Given the description of an element on the screen output the (x, y) to click on. 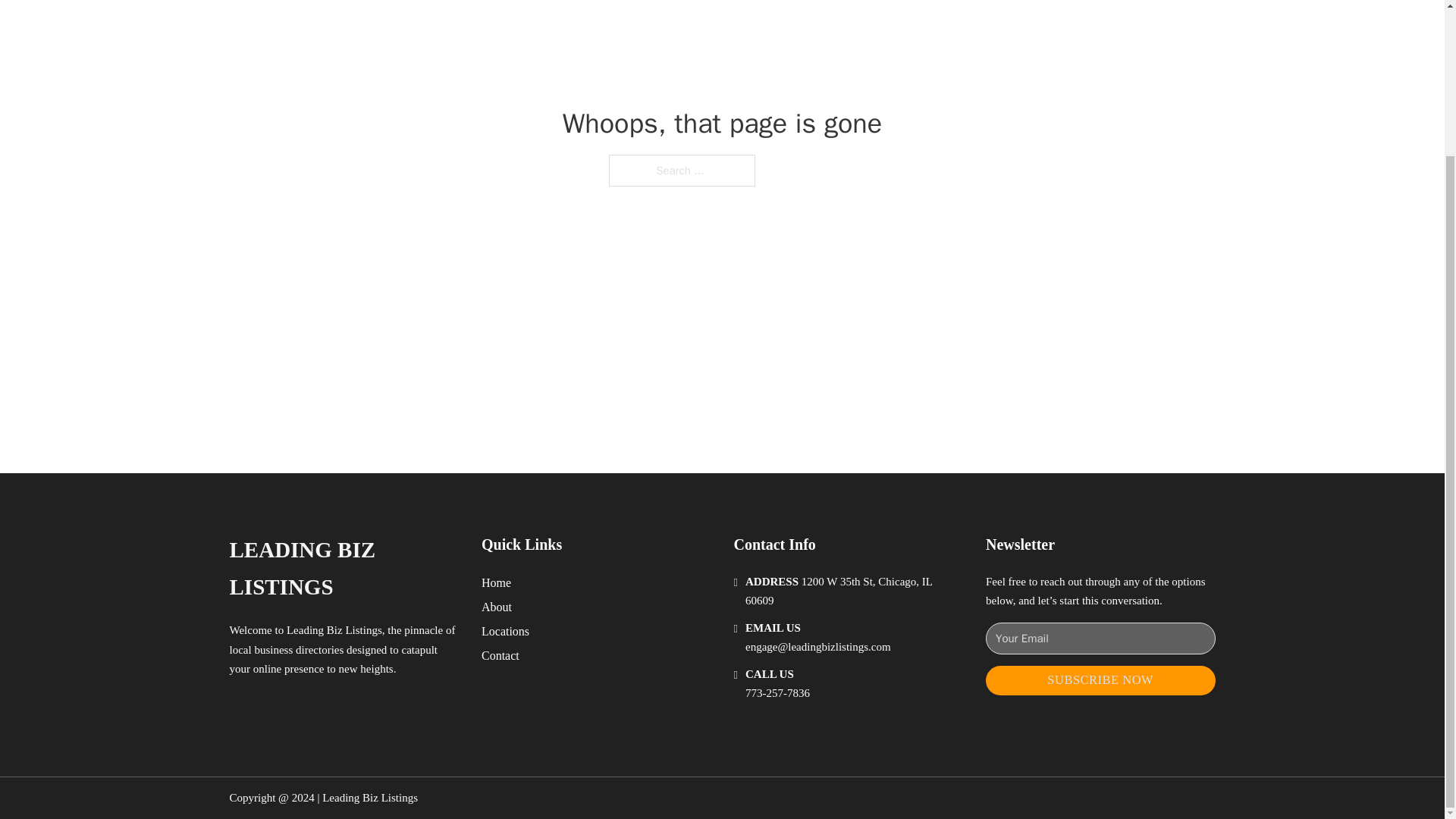
About (496, 607)
773-257-7836 (777, 693)
Locations (505, 630)
Home (496, 582)
SUBSCRIBE NOW (1100, 680)
LEADING BIZ LISTINGS (343, 568)
Contact (500, 655)
